Given the description of an element on the screen output the (x, y) to click on. 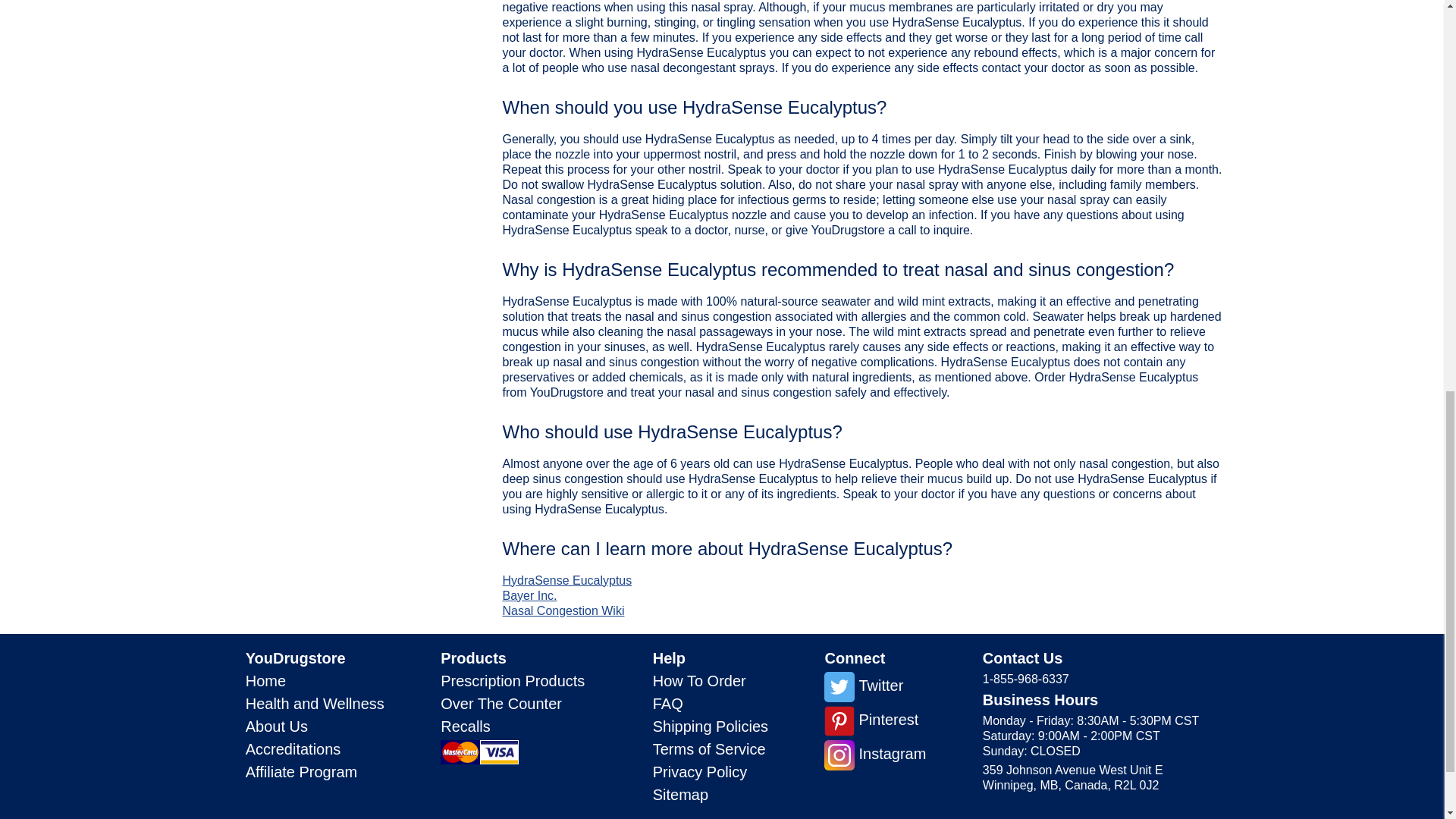
Bayer Inc. (529, 594)
HydraSense Eucalyptus (566, 580)
Nasal Congestion Wiki (563, 610)
